Given the description of an element on the screen output the (x, y) to click on. 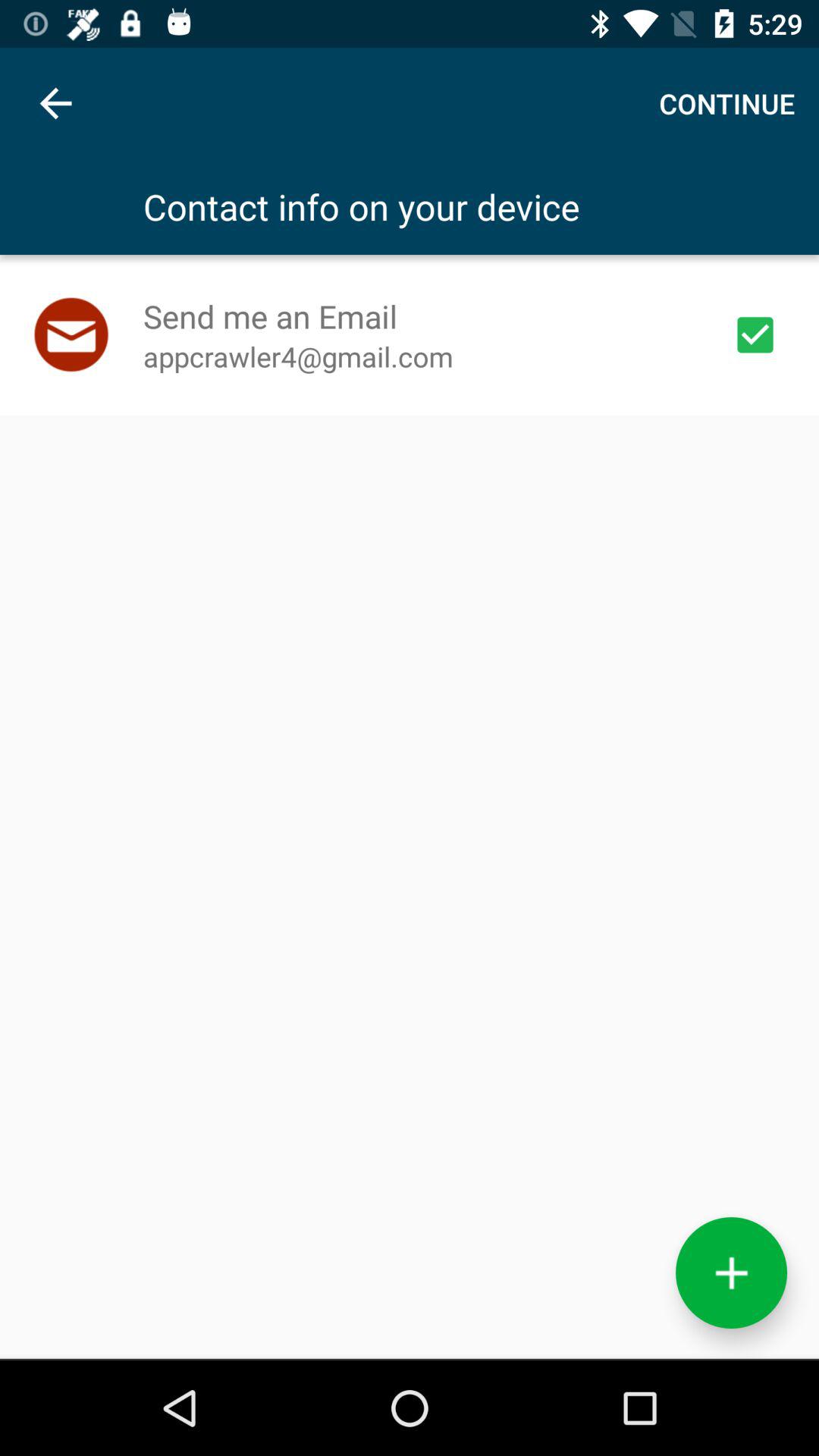
open the continue icon (727, 103)
